Given the description of an element on the screen output the (x, y) to click on. 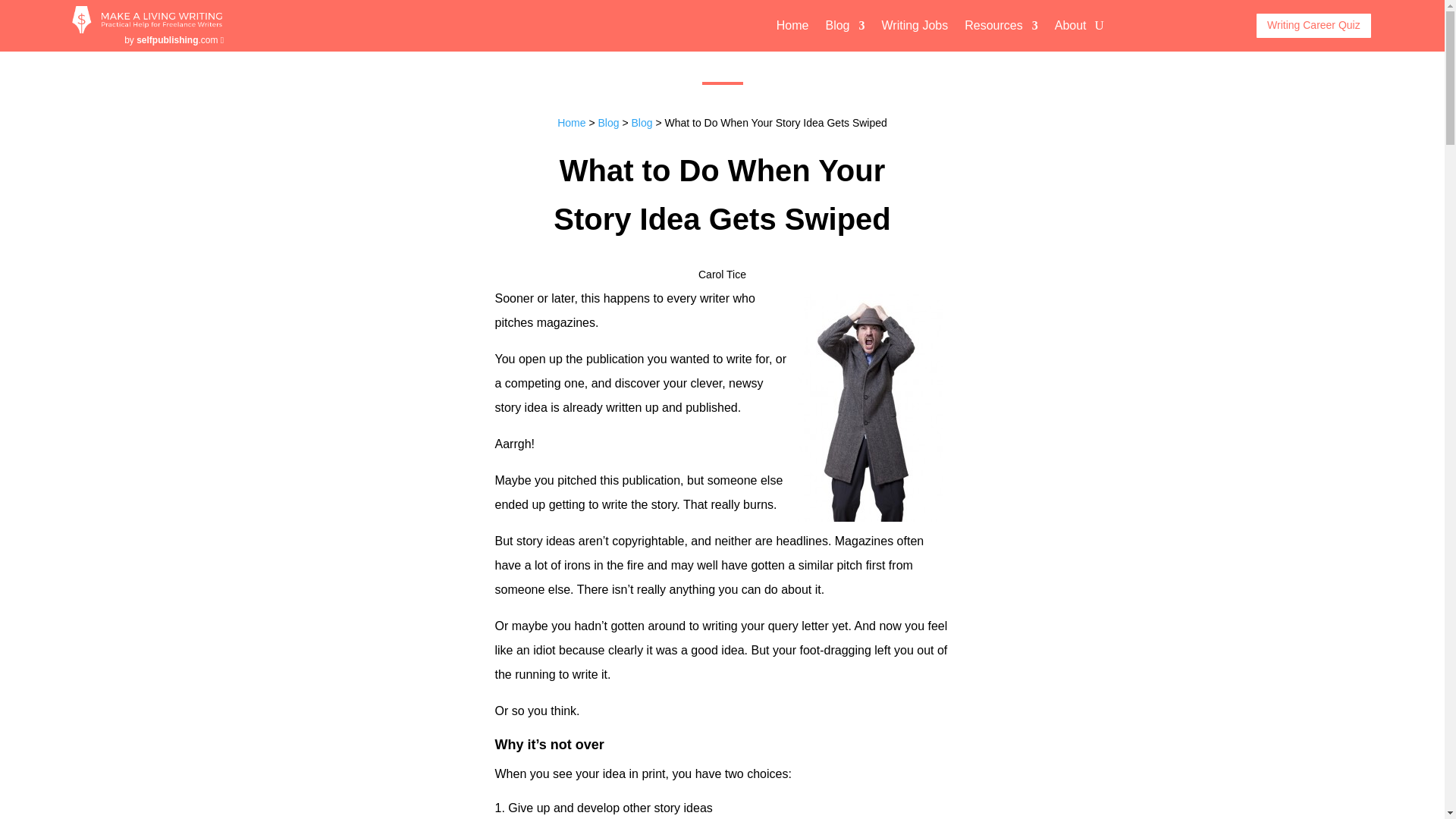
Make a Living Writing (147, 29)
About (1070, 28)
Writing Career Quiz (1314, 25)
Writing Jobs (915, 28)
Blog (607, 122)
Blog (844, 28)
Home (571, 122)
Resources (999, 28)
Home (792, 28)
